Given the description of an element on the screen output the (x, y) to click on. 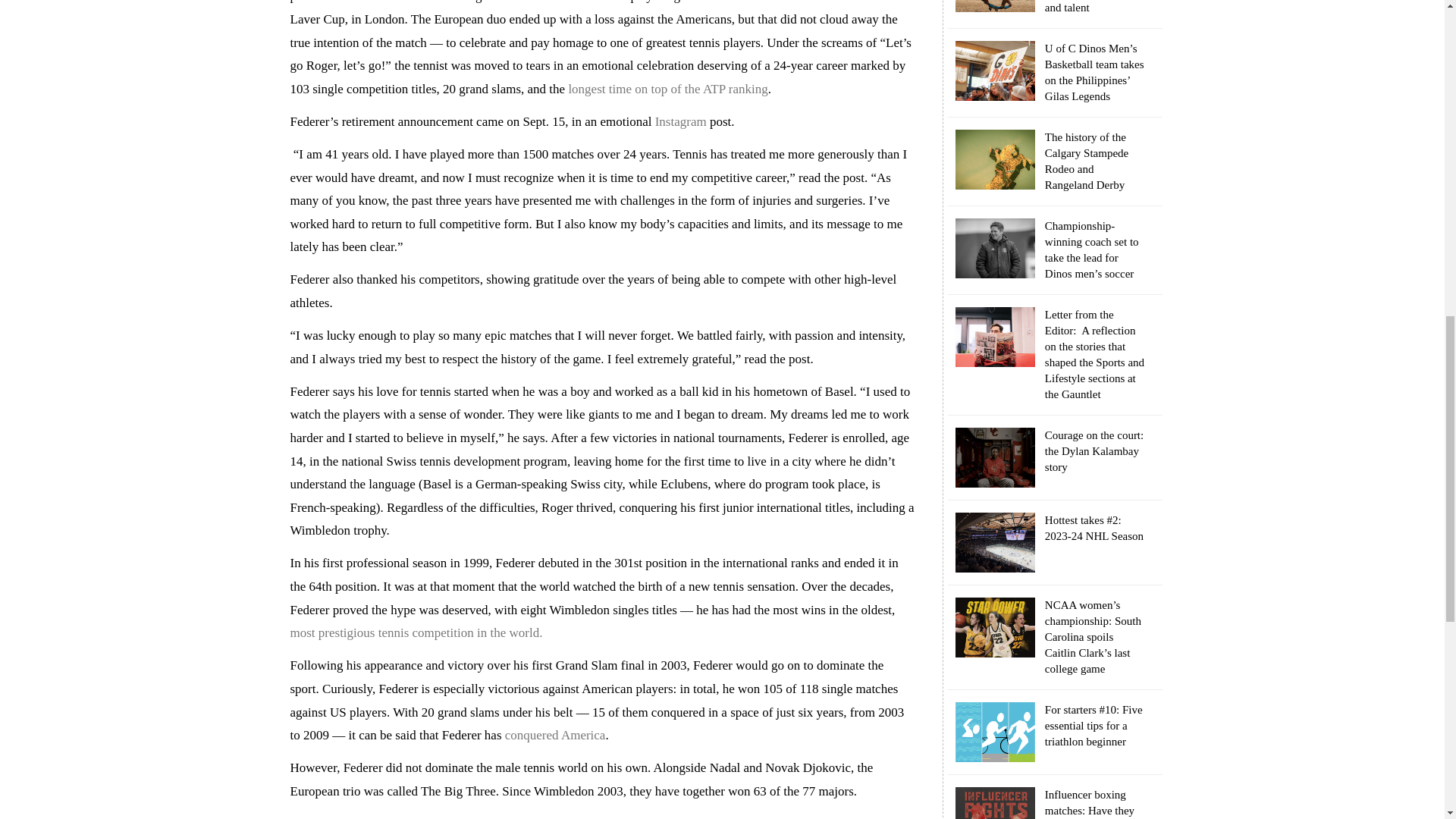
Instagram (680, 121)
most prestigious tennis competition in the world. (415, 632)
longest time on top of the ATP ranking (667, 88)
conquered America (555, 735)
